Given the description of an element on the screen output the (x, y) to click on. 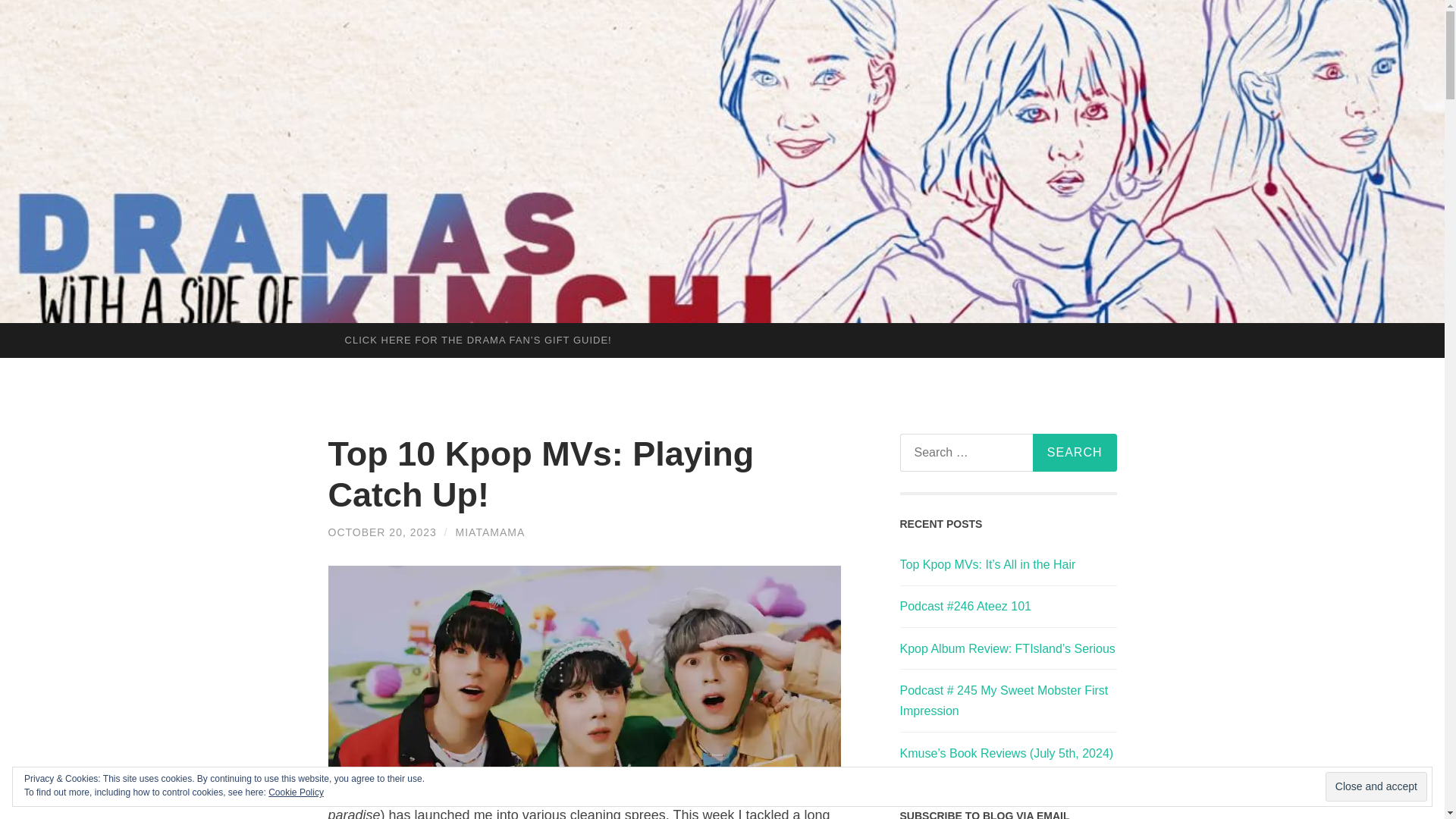
Close and accept (1375, 786)
Search (1074, 452)
Search (1074, 452)
MIATAMAMA (490, 532)
OCTOBER 20, 2023 (381, 532)
Search (1074, 452)
SKIP TO CONTENT (16, 334)
